Given the description of an element on the screen output the (x, y) to click on. 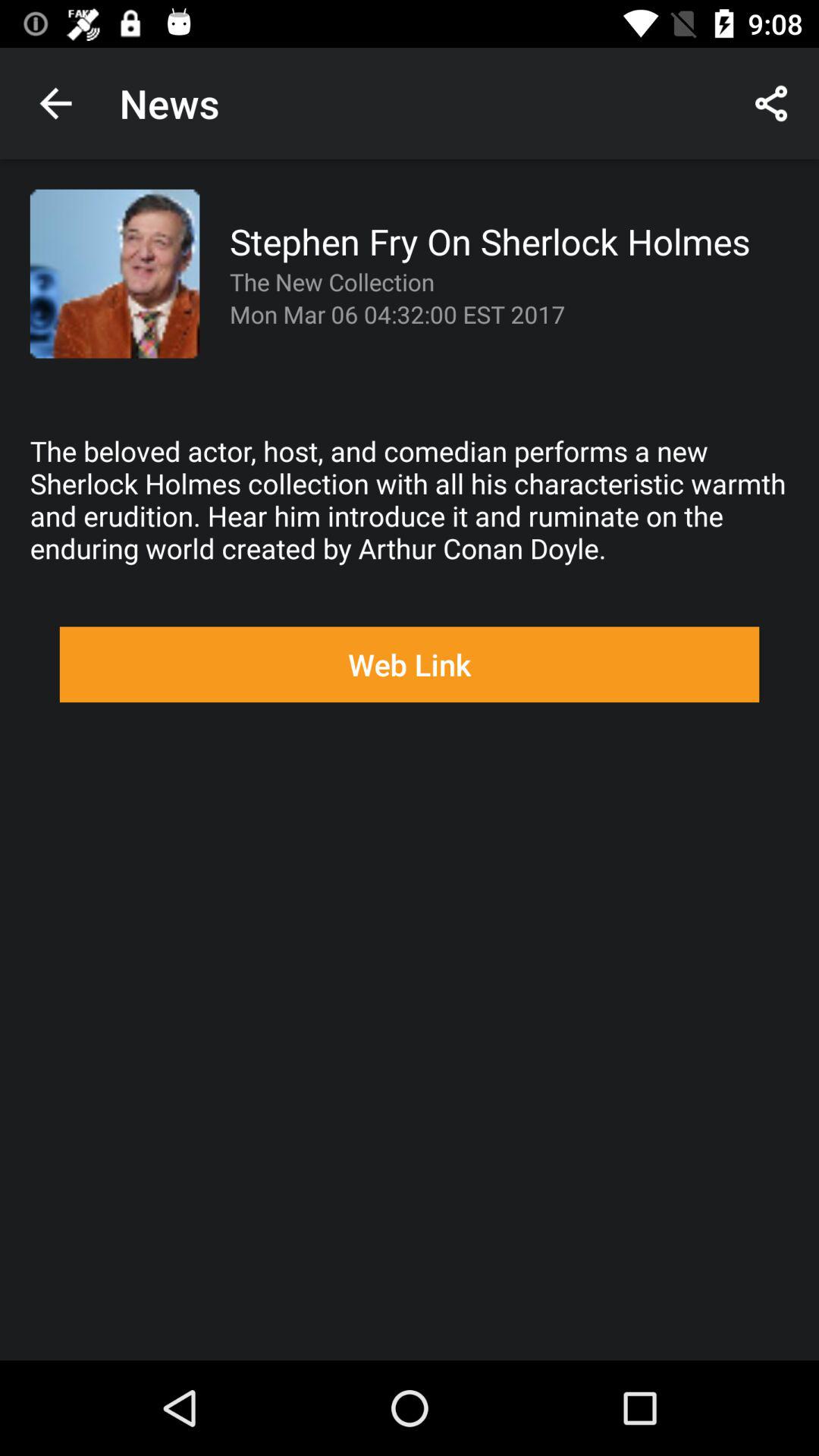
open web link (409, 664)
